Given the description of an element on the screen output the (x, y) to click on. 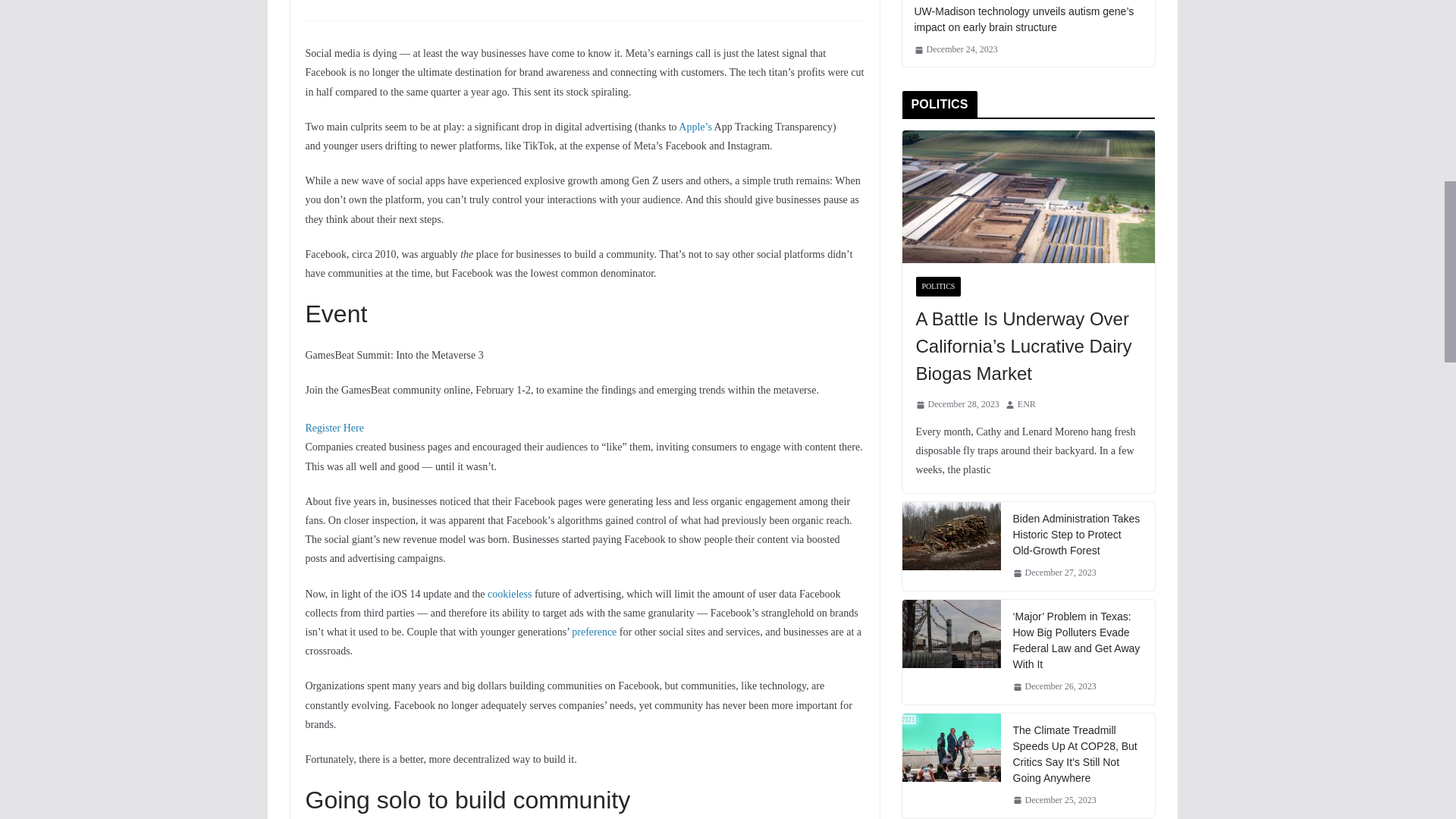
preference (593, 632)
Register Here (333, 437)
cookieless (509, 593)
